Given the description of an element on the screen output the (x, y) to click on. 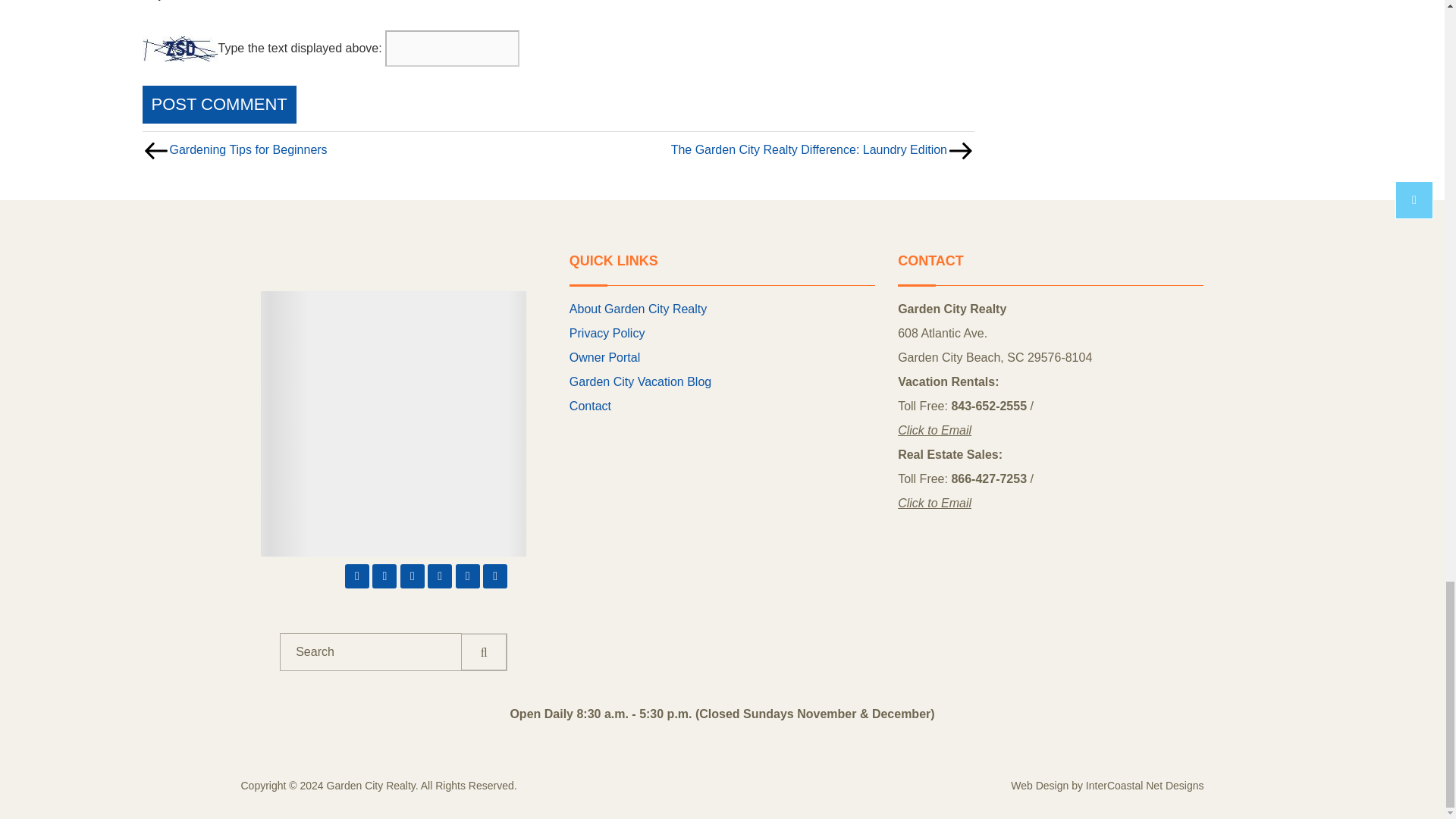
Post Comment (219, 104)
